Given the description of an element on the screen output the (x, y) to click on. 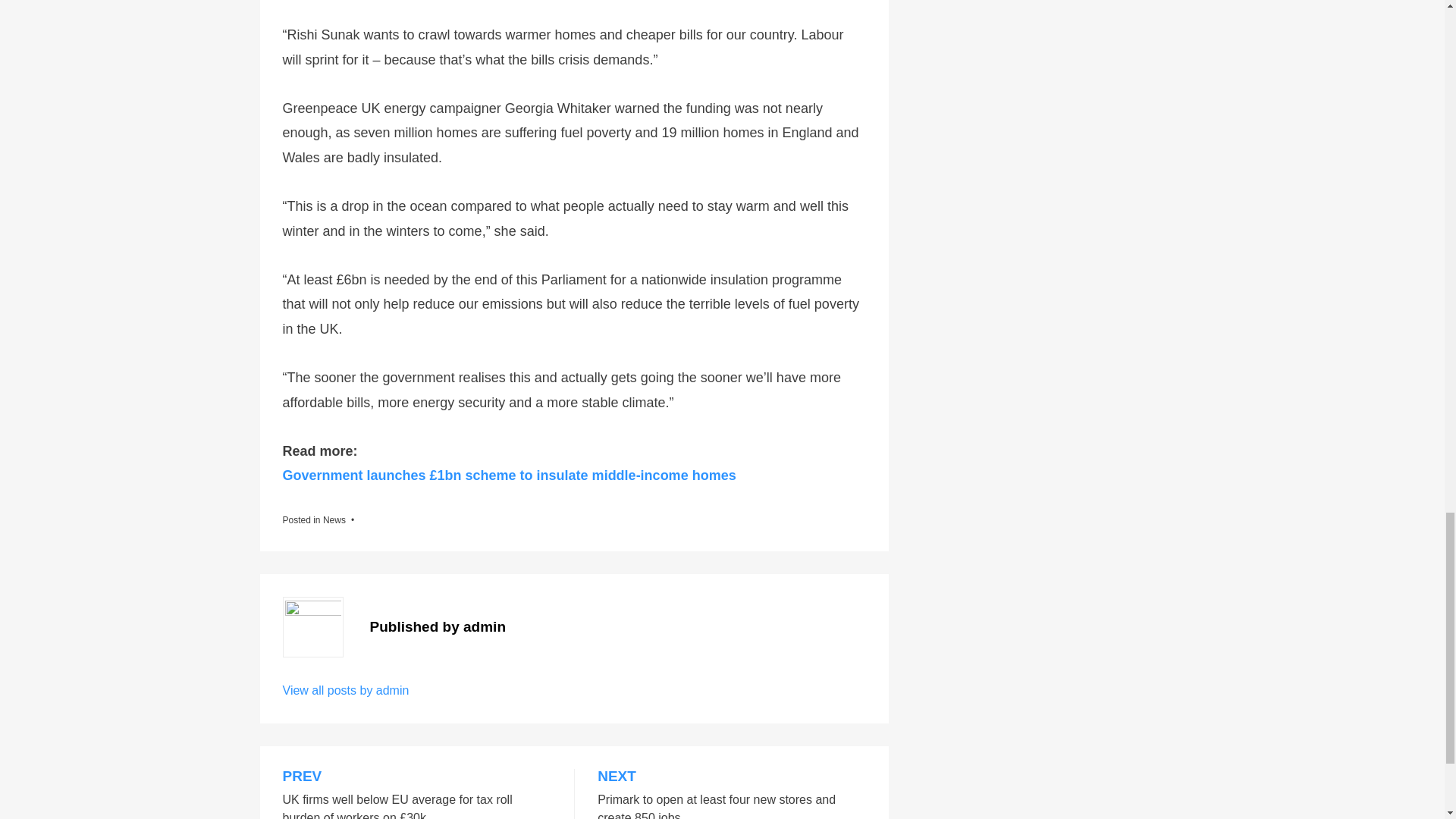
News (334, 520)
View all posts by admin (345, 689)
